Given the description of an element on the screen output the (x, y) to click on. 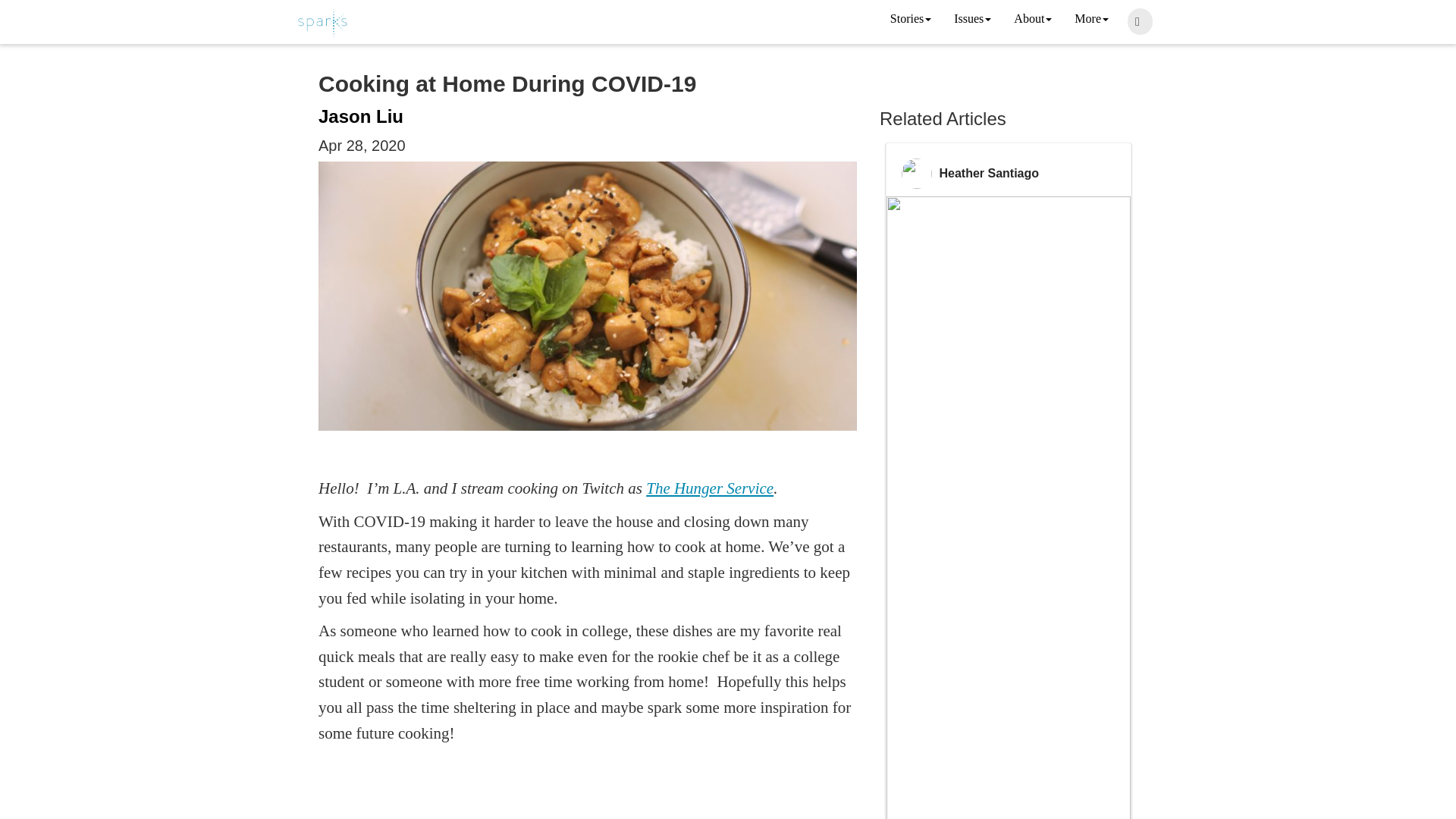
Heather Santiago (989, 173)
Issues (972, 19)
Stories (910, 19)
Jason Liu (360, 116)
About (1032, 19)
The Hunger Service (709, 488)
More (1090, 19)
